Given the description of an element on the screen output the (x, y) to click on. 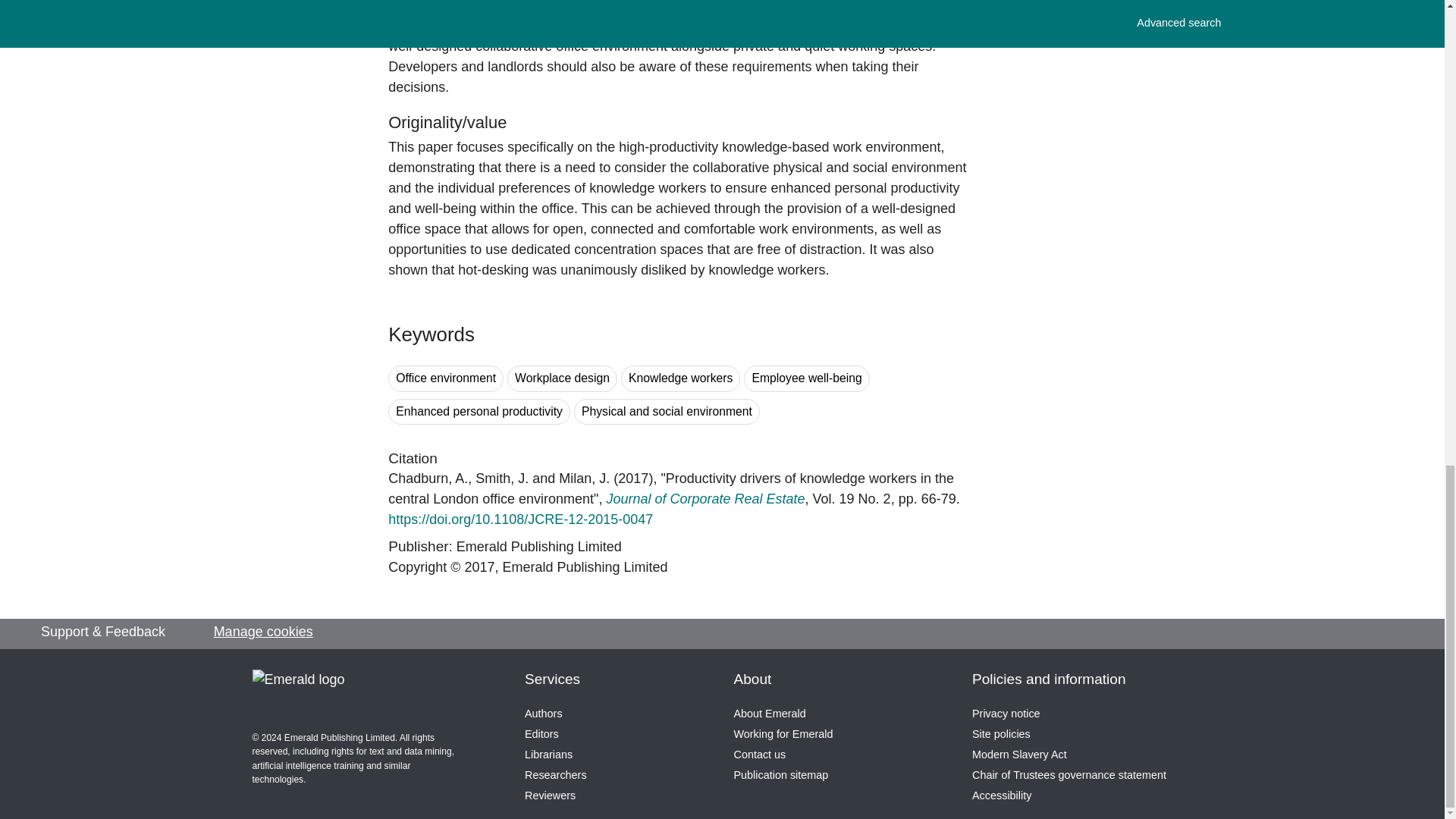
Joshua Milan (584, 478)
Authors (543, 713)
Search for keyword Office environment (445, 378)
Journal of Corporate Real Estate (705, 498)
Manage cookies (263, 631)
Physical and social environment (666, 411)
Smith, J. (502, 478)
Workplace design (561, 378)
Search for keyword Employee well-being (806, 378)
Milan, J. (584, 478)
